Given the description of an element on the screen output the (x, y) to click on. 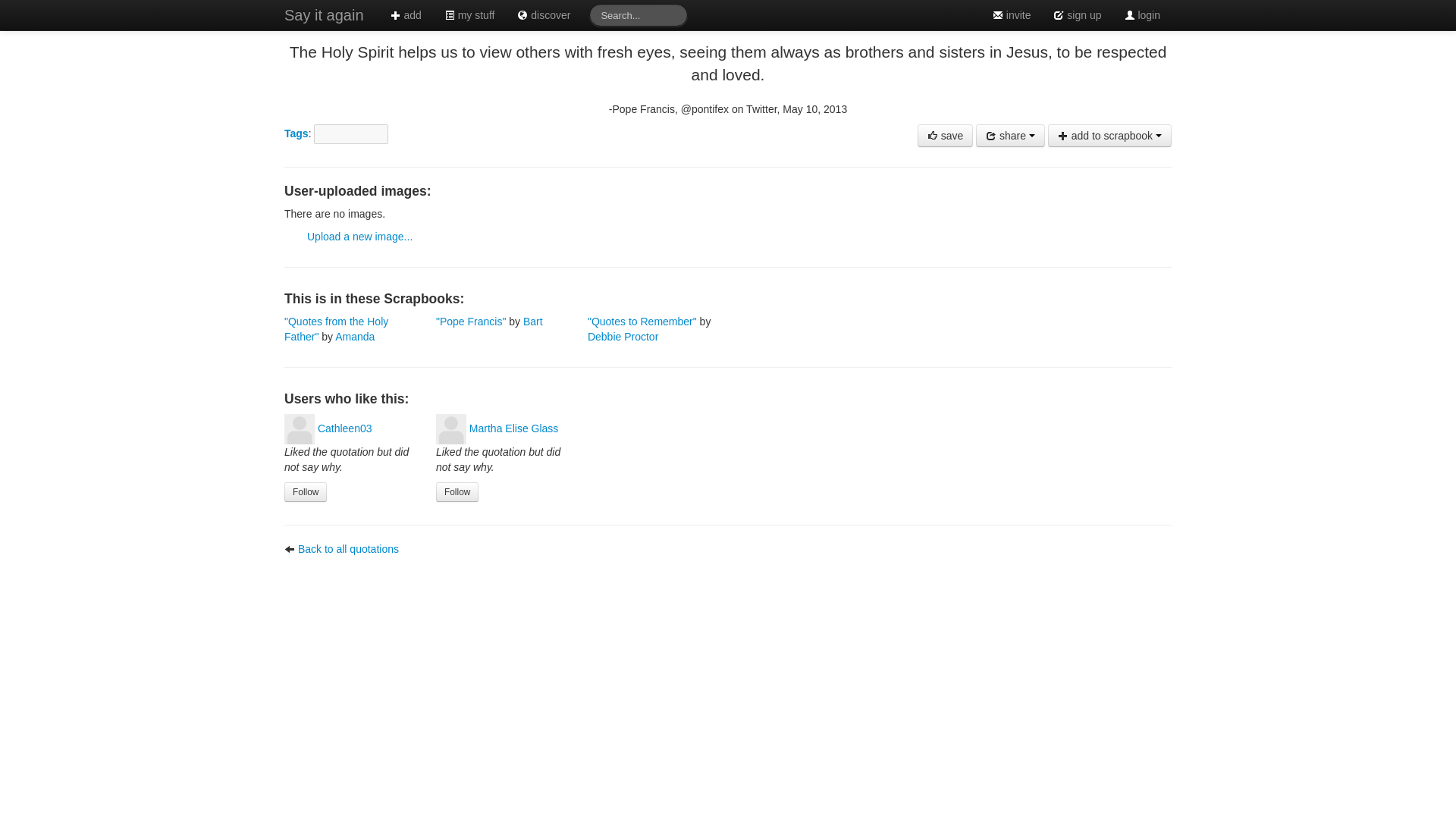
sign up (1077, 15)
Debbie Proctor (623, 336)
"Quotes to Remember" (644, 321)
Martha Elise Glass (512, 428)
my stuff (469, 15)
Say it again (323, 15)
"Quotes from the Holy Father" (335, 329)
share (1010, 135)
invite (1011, 15)
Amanda (354, 336)
